Given the description of an element on the screen output the (x, y) to click on. 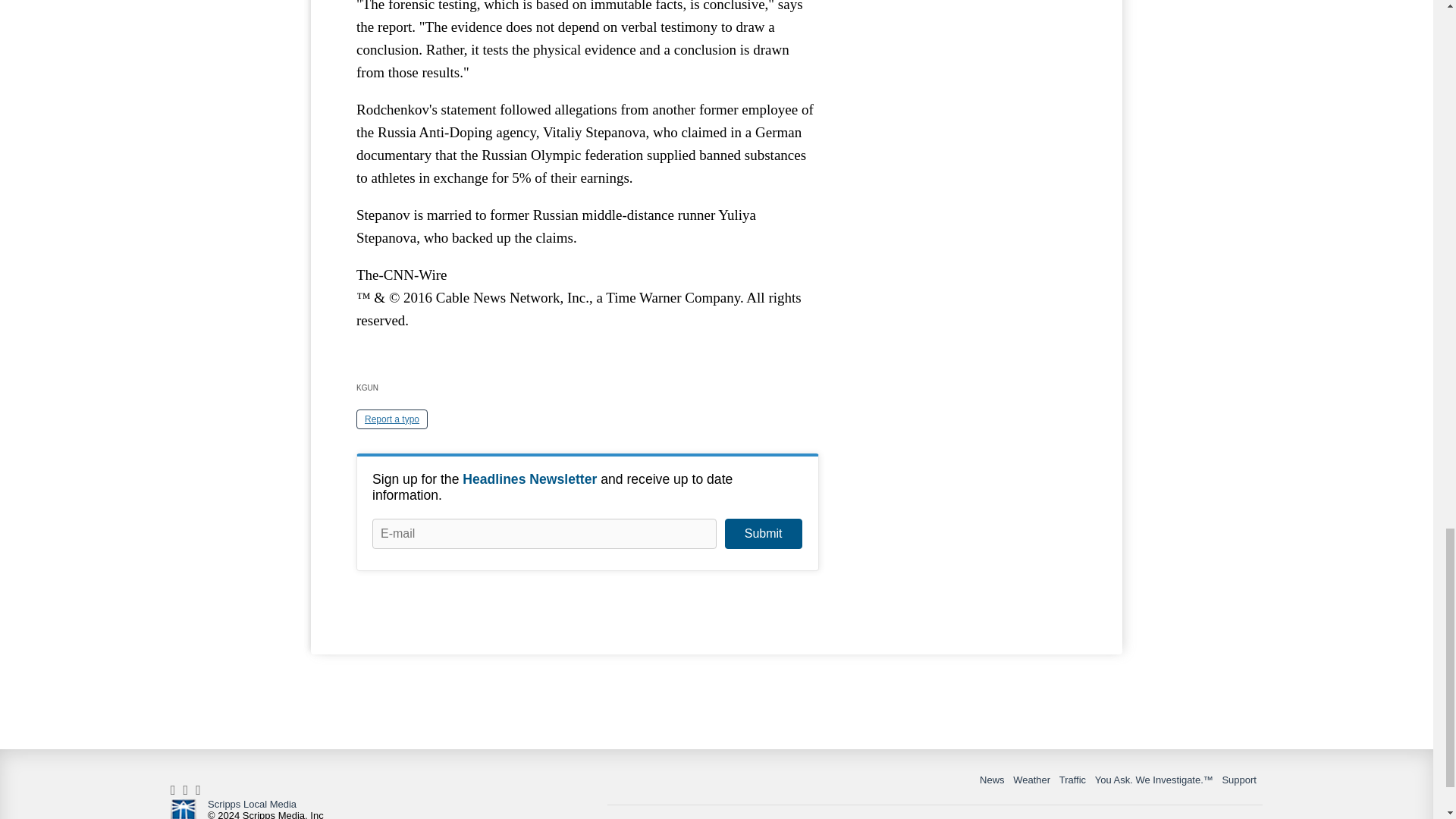
Submit (763, 533)
